Given the description of an element on the screen output the (x, y) to click on. 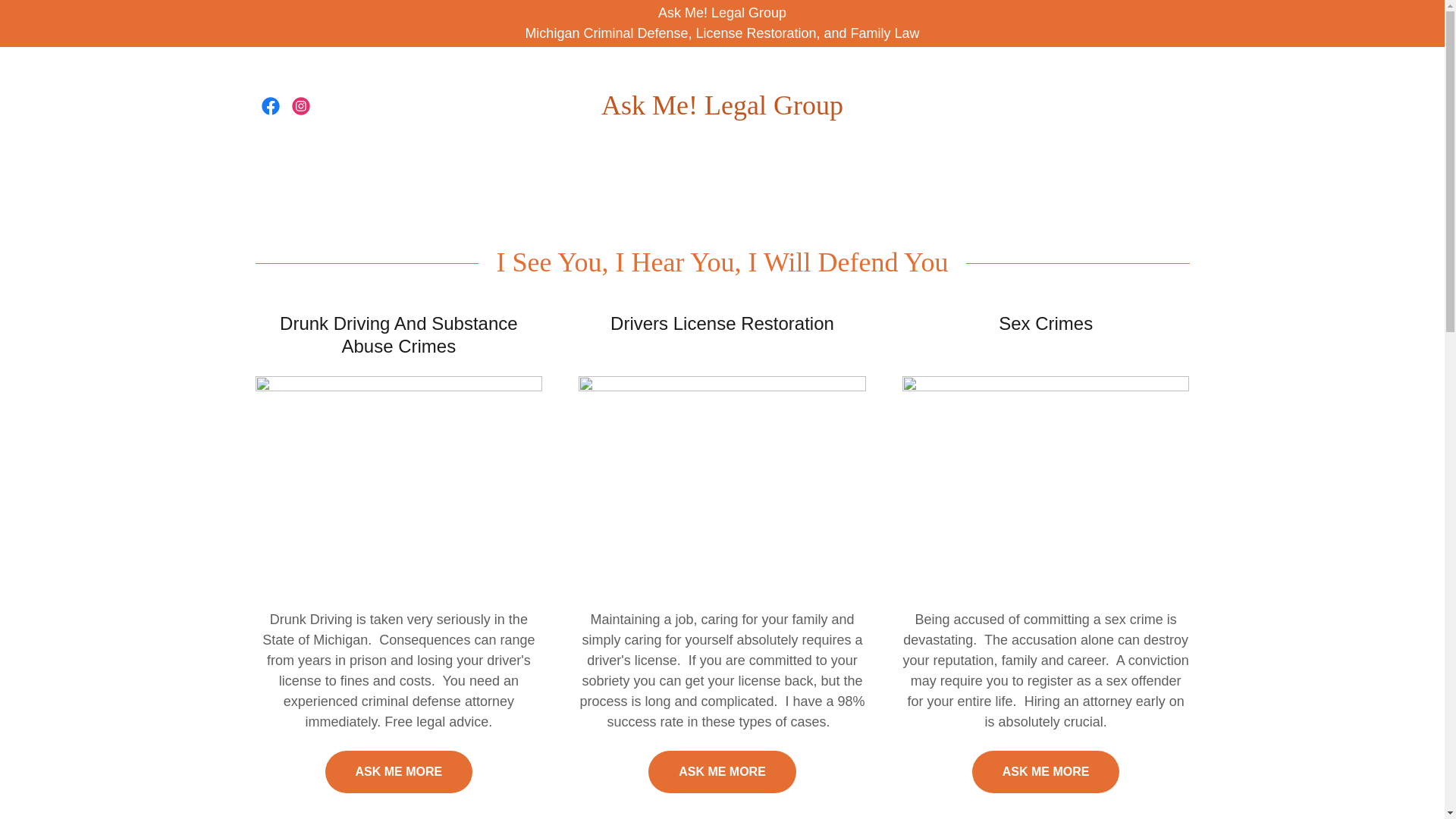
ASK ME MORE (721, 772)
Ask Me! Legal Group (722, 109)
ASK ME MORE (1045, 772)
ASK ME MORE (397, 772)
Ask Me! Legal Group (722, 109)
